Given the description of an element on the screen output the (x, y) to click on. 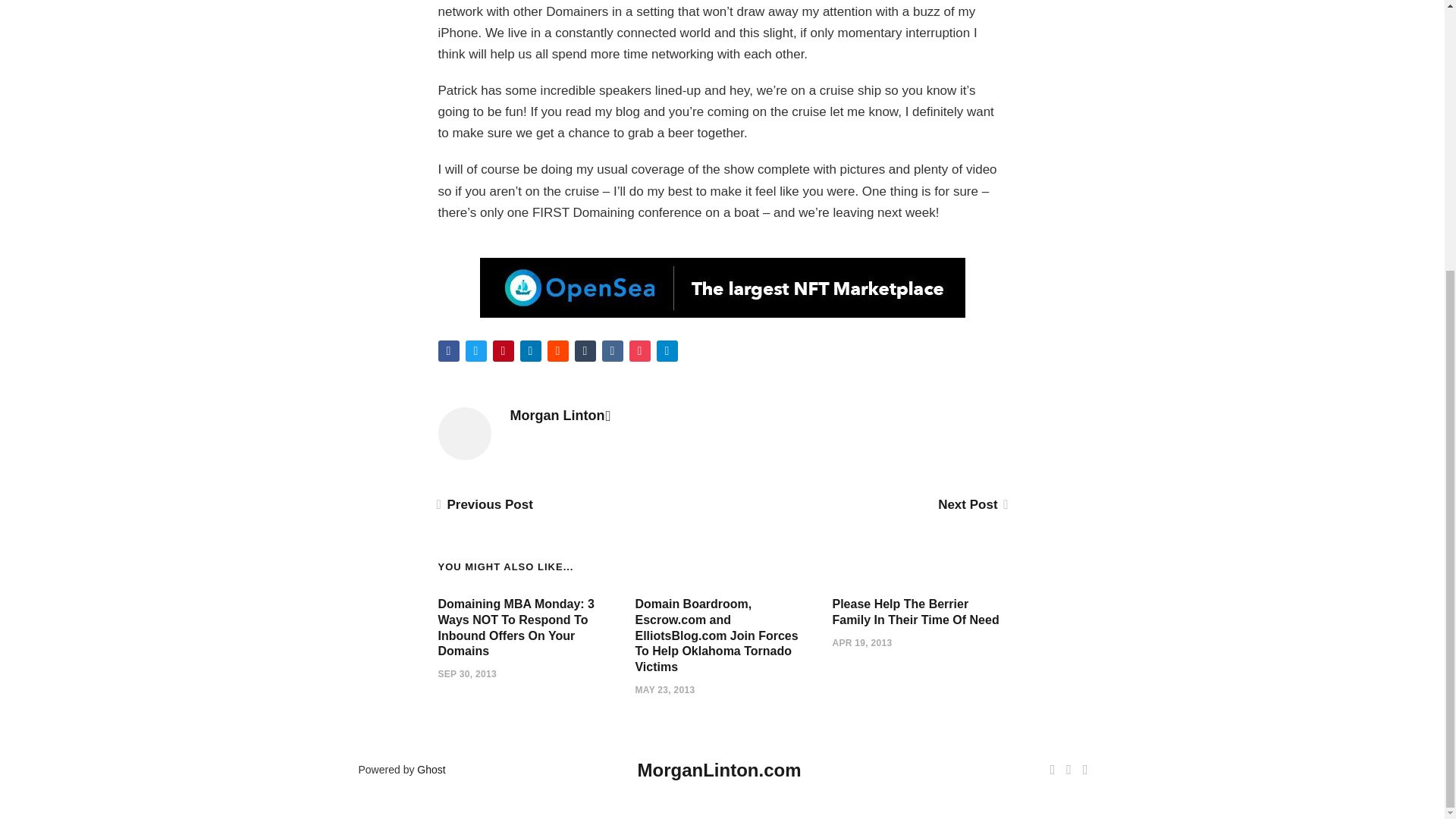
Previous Post (485, 504)
Please Help The Berrier Family In Their Time Of Need (914, 611)
Next Post (971, 504)
